Given the description of an element on the screen output the (x, y) to click on. 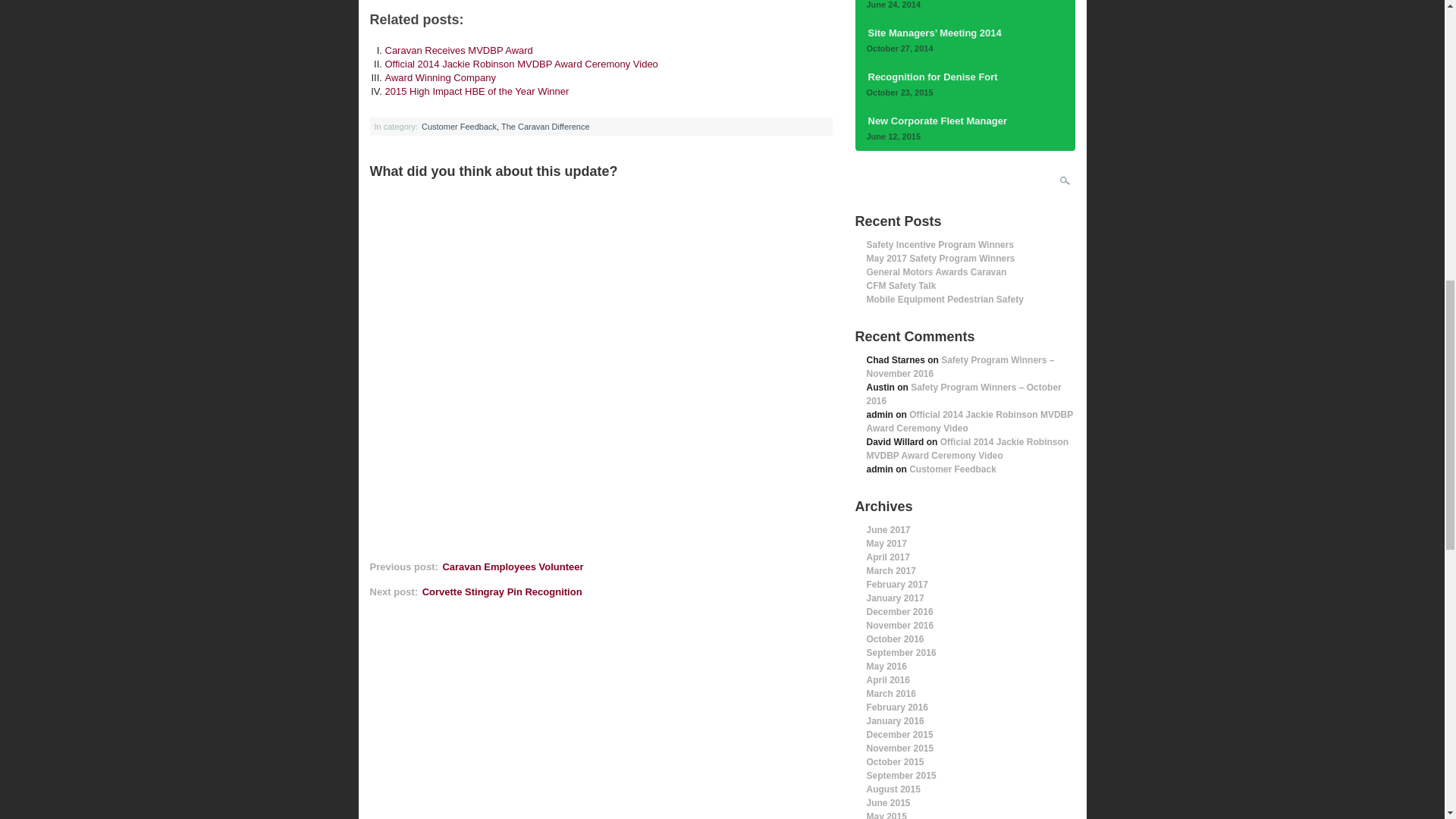
The Caravan Difference (544, 126)
Award Winning Company (440, 77)
Official 2014 Jackie Robinson MVDBP Award Ceremony Video (521, 63)
Caravan Employees Volunteer (512, 566)
Caravan Receives MVDBP Award (458, 50)
Corvette Stingray Pin Recognition (501, 591)
Official 2014 Jackie Robinson MVDBP Award Ceremony Video (521, 63)
2015 High Impact HBE of the Year Winner (477, 91)
Customer Feedback (459, 126)
2015 High Impact HBE of the Year Winner (477, 91)
